Given the description of an element on the screen output the (x, y) to click on. 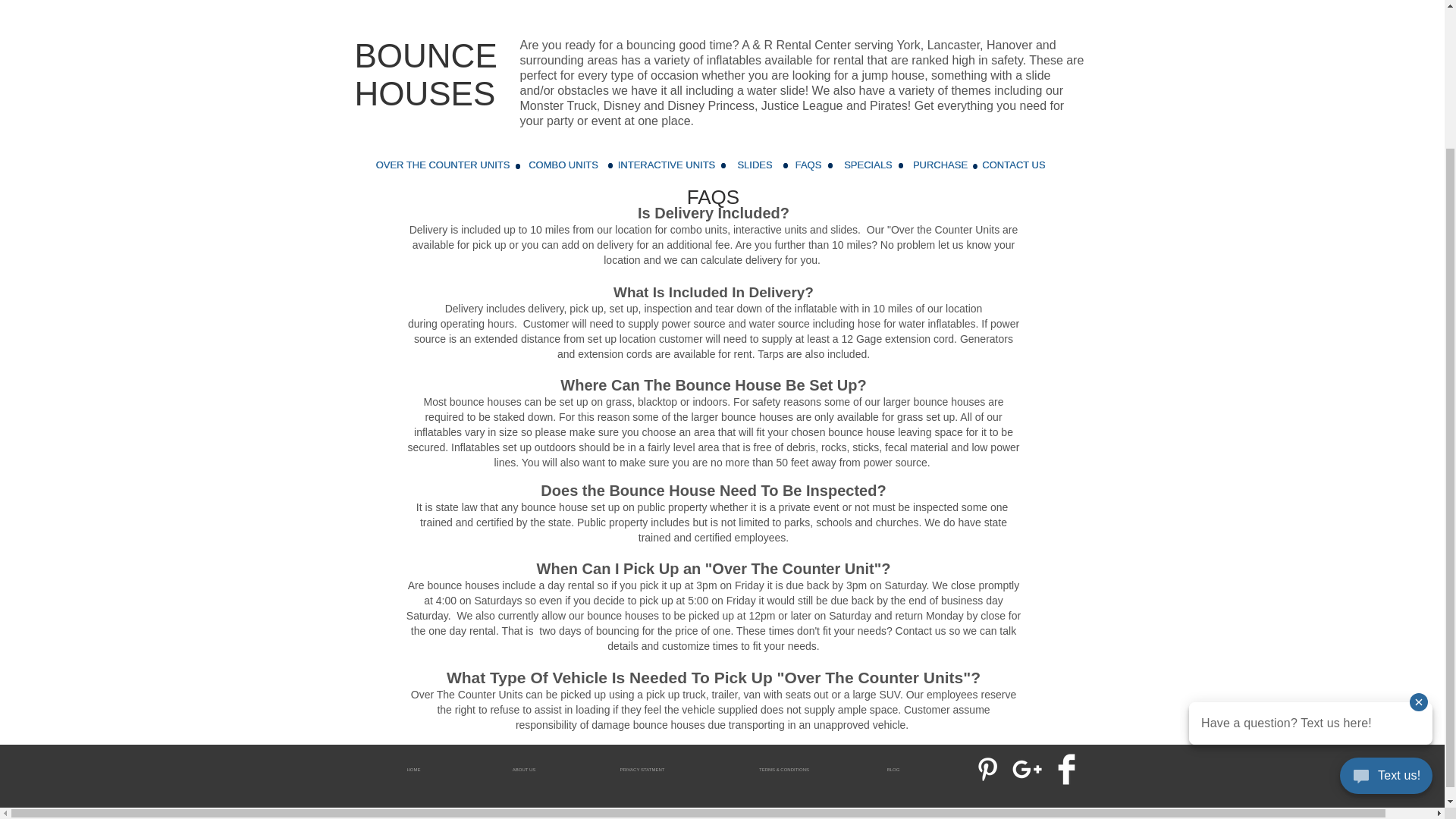
OVER THE COUNTER UNITS (443, 164)
Text us! (1385, 603)
